Given the description of an element on the screen output the (x, y) to click on. 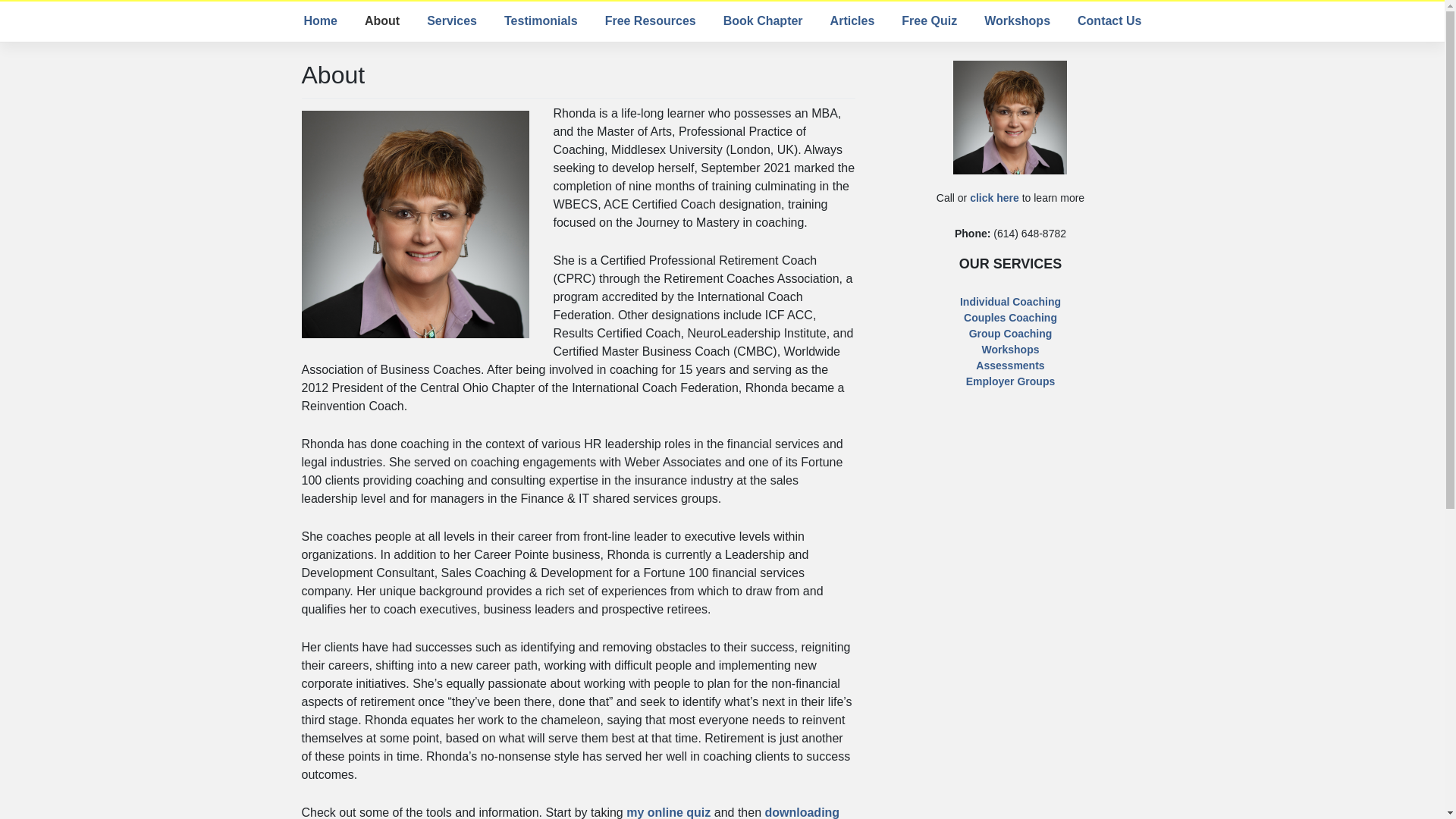
Workshops (1017, 20)
Home (319, 20)
Contact Us (1109, 20)
Employer Groups (1010, 381)
Assessments (1009, 365)
Articles (852, 20)
Couples Coaching (1010, 317)
Free Quiz (928, 20)
About (382, 20)
Services (451, 20)
my online quiz (668, 812)
Services (451, 20)
About (382, 20)
Individual Coaching (1010, 301)
Testimonials (540, 20)
